Given the description of an element on the screen output the (x, y) to click on. 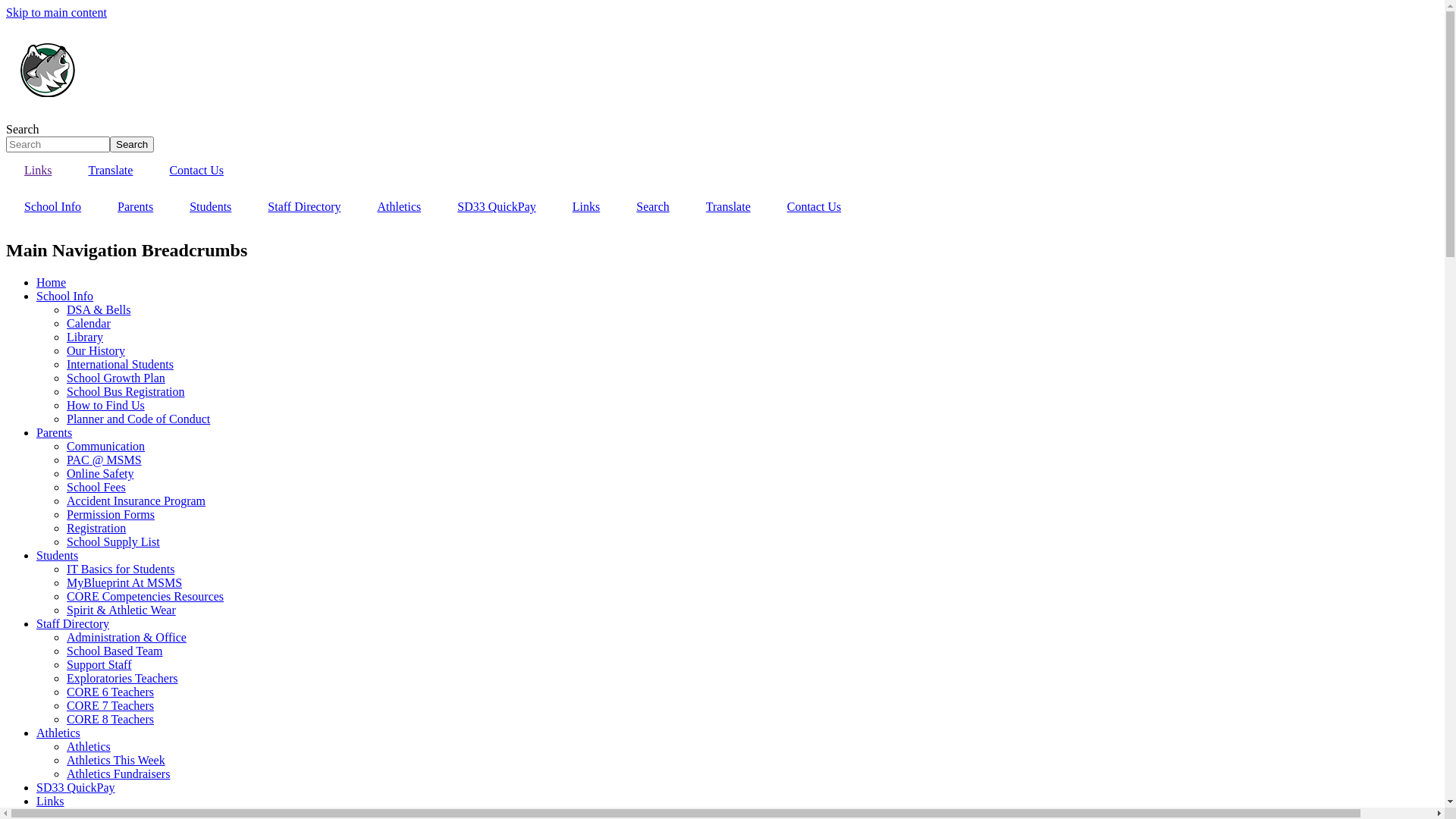
International Students Element type: text (119, 363)
Online Safety Element type: text (99, 473)
School Supply List Element type: text (113, 541)
Athletics Element type: text (398, 206)
Links Element type: text (49, 800)
School Based Team Element type: text (114, 650)
How to Find Us Element type: text (105, 404)
PAC @ MSMS Element type: text (103, 459)
CORE 6 Teachers Element type: text (109, 691)
CORE 8 Teachers Element type: text (109, 718)
Students Element type: text (57, 555)
Search Element type: text (652, 206)
Translate Element type: text (109, 170)
Contact Us Element type: text (195, 170)
Athletics Fundraisers Element type: text (117, 773)
Contact Us Element type: text (813, 206)
Planner and Code of Conduct Element type: text (138, 418)
Translate Element type: text (727, 206)
Athletics Element type: text (58, 732)
Links Element type: text (586, 206)
School Info Element type: text (52, 206)
School Fees Element type: text (95, 486)
Parents Element type: text (135, 206)
School Bus Registration Element type: text (125, 391)
Accident Insurance Program Element type: text (135, 500)
Calendar Element type: text (88, 322)
Skip to main content Element type: text (56, 12)
Search Element type: text (131, 144)
Permission Forms Element type: text (110, 514)
Support Staff Element type: text (98, 664)
Spirit & Athletic Wear Element type: text (120, 609)
SD33 QuickPay Element type: text (75, 787)
Communication Element type: text (105, 445)
School Info Element type: text (64, 295)
Administration & Office Element type: text (126, 636)
Parents Element type: text (54, 432)
Registration Element type: text (95, 527)
Home Element type: text (50, 282)
DSA & Bells Element type: text (98, 309)
Our History Element type: text (95, 350)
School Growth Plan Element type: text (115, 377)
Athletics This Week Element type: text (115, 759)
Library Element type: text (84, 336)
IT Basics for Students Element type: text (120, 568)
CORE 7 Teachers Element type: text (109, 705)
CORE Competencies Resources Element type: text (144, 595)
Students Element type: text (210, 206)
Staff Directory Element type: text (303, 206)
SD33 QuickPay Element type: text (496, 206)
Staff Directory Element type: text (72, 623)
MyBlueprint At MSMS Element type: text (124, 582)
Enter the terms you wish to search for. Element type: hover (57, 144)
Athletics Element type: text (88, 746)
Exploratories Teachers Element type: text (122, 677)
Links Element type: text (37, 170)
